Given the description of an element on the screen output the (x, y) to click on. 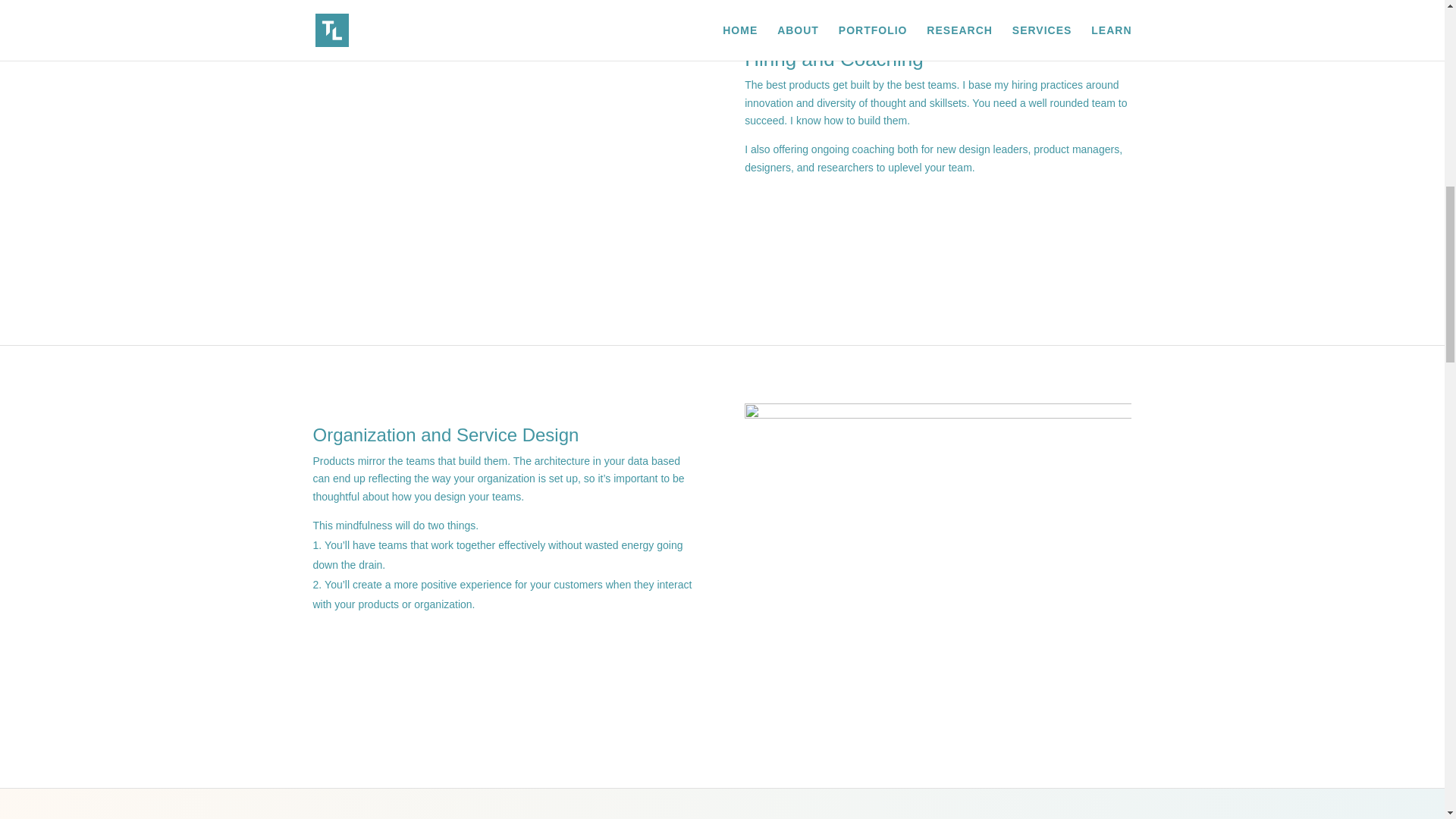
Simplifi (505, 162)
